Given the description of an element on the screen output the (x, y) to click on. 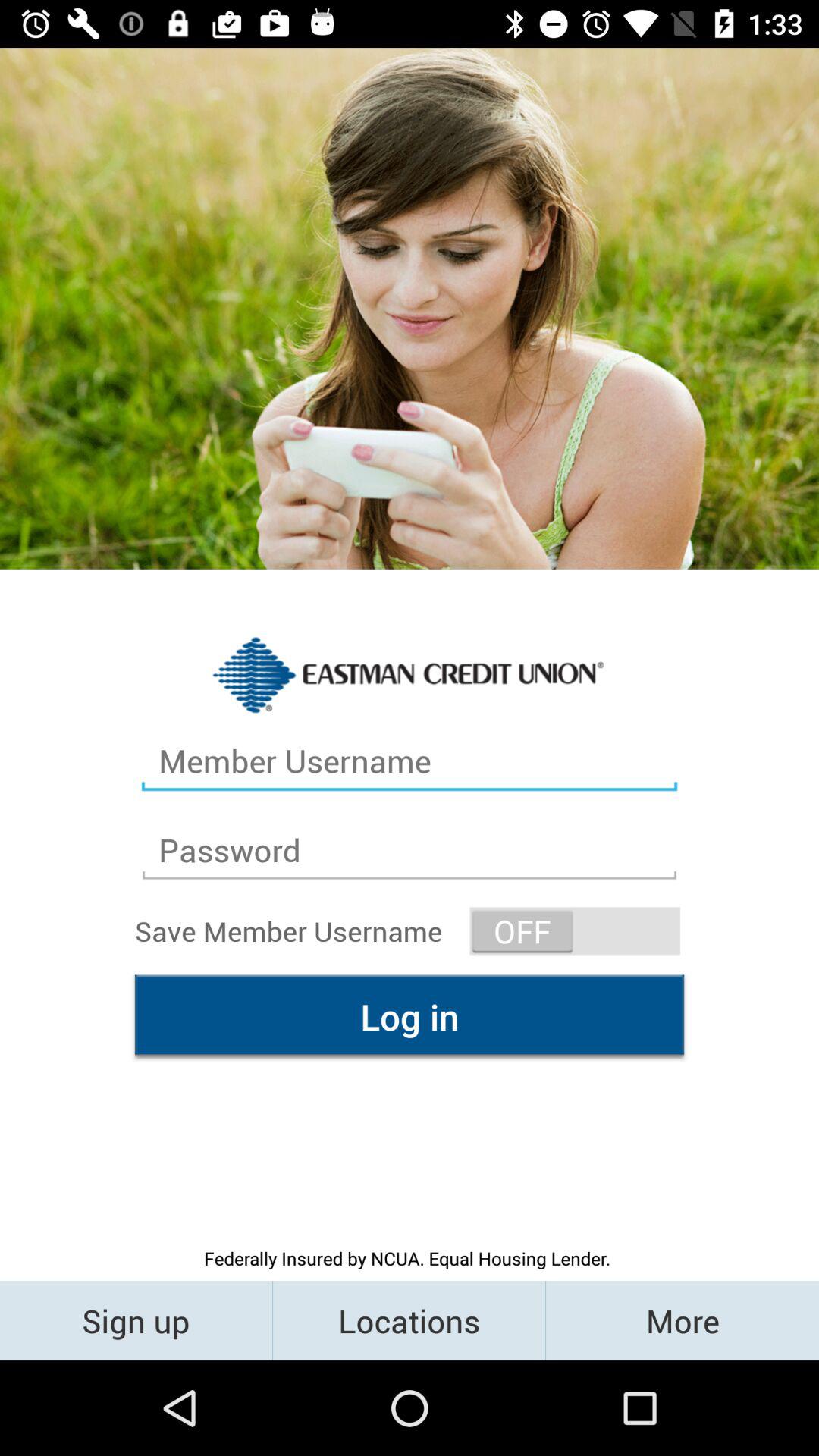
choose the item next to the locations (682, 1320)
